Given the description of an element on the screen output the (x, y) to click on. 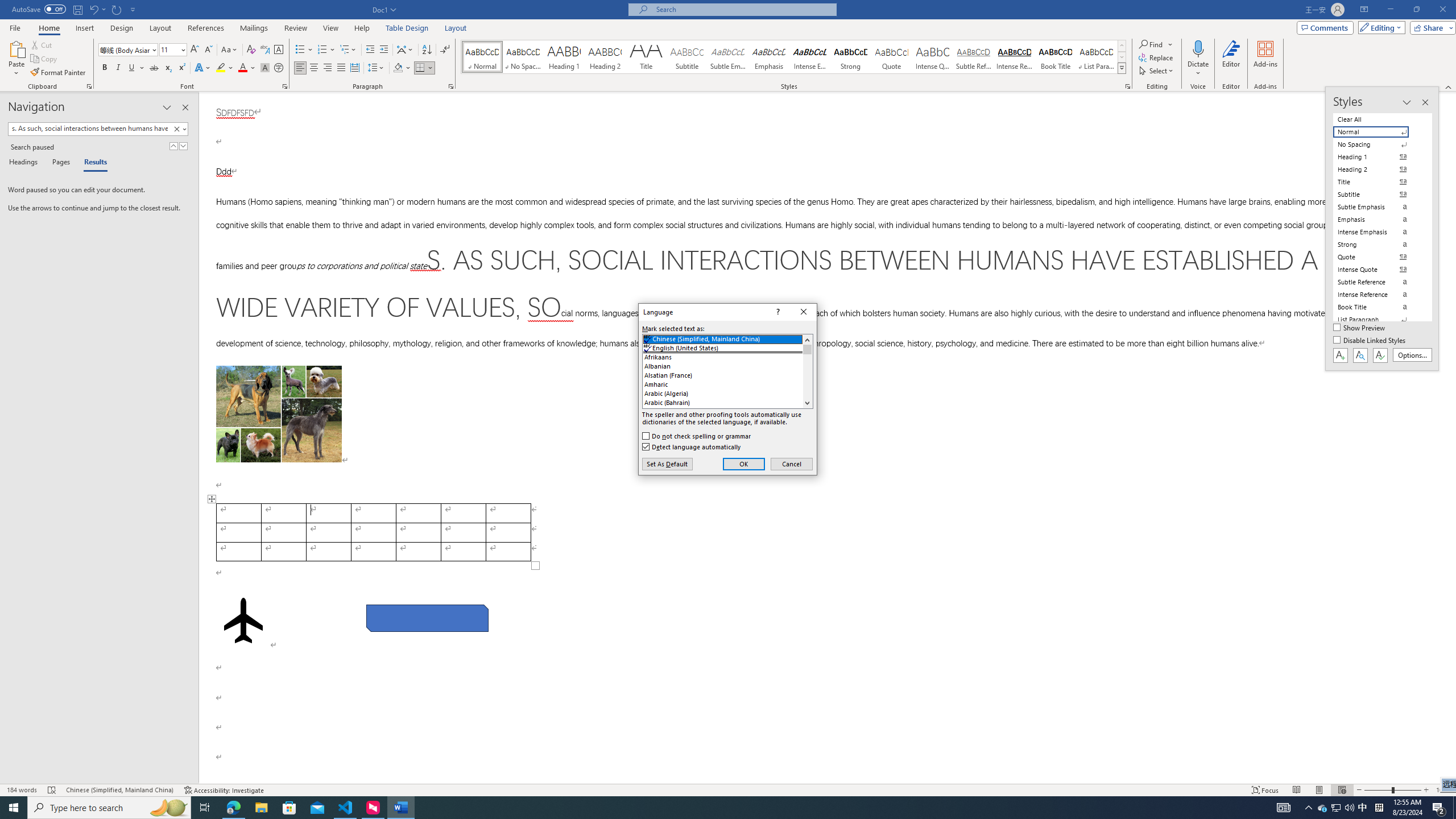
Undo Style (96, 9)
AutomationID: 21 (807, 370)
